Given the description of an element on the screen output the (x, y) to click on. 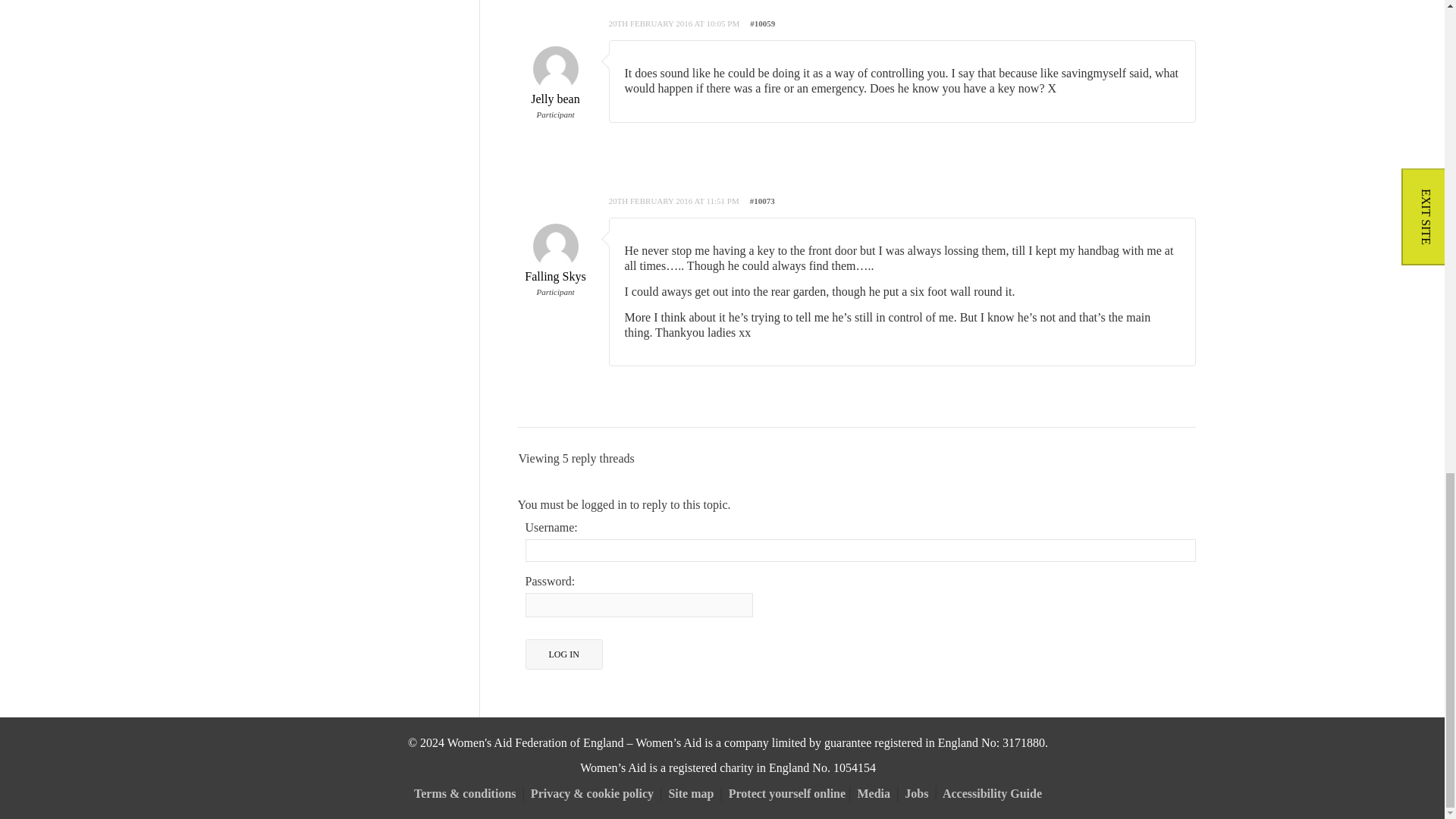
Falling Skys (554, 260)
Jelly bean (554, 83)
LOG IN (563, 654)
